Given the description of an element on the screen output the (x, y) to click on. 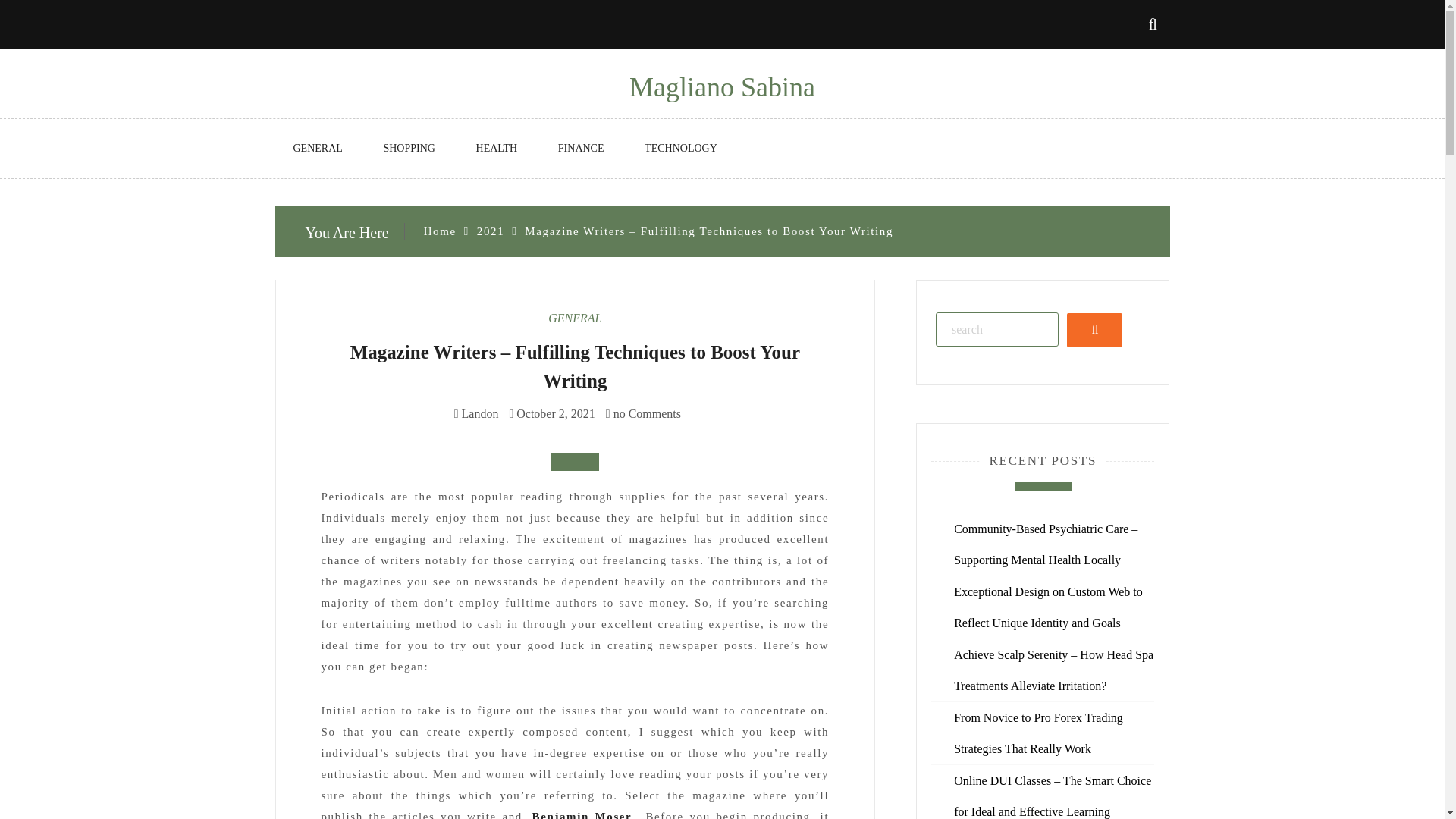
HEALTH (496, 148)
From Novice to Pro Forex Trading Strategies That Really Work (1037, 733)
no Comments (643, 413)
October 2, 2021 (555, 413)
2021 (490, 231)
Posts by Landon (480, 413)
Magliano Sabina (721, 87)
Home (440, 231)
Landon (480, 413)
